Given the description of an element on the screen output the (x, y) to click on. 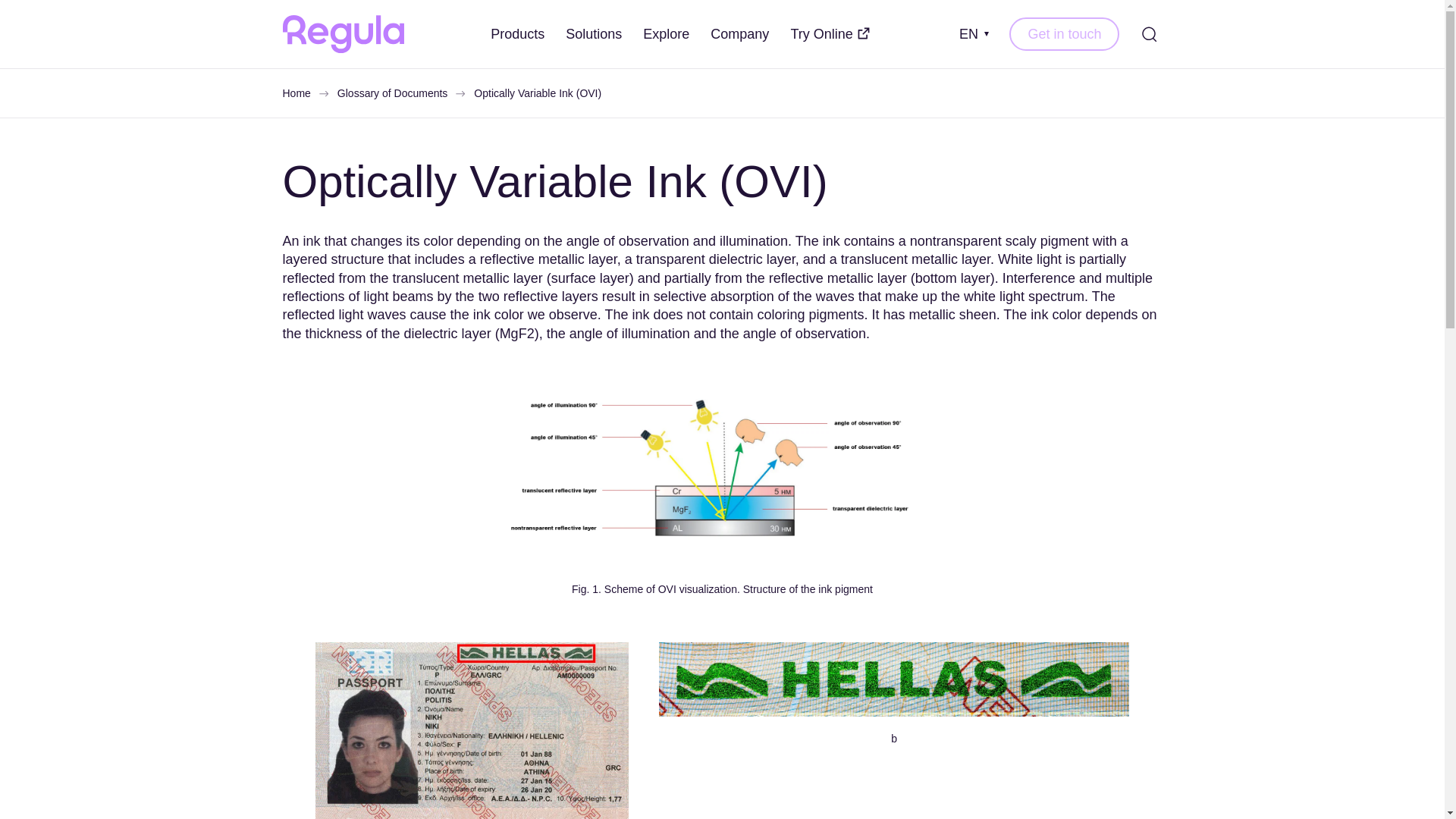
Home (296, 92)
Try Online (829, 34)
Glossary of Documents (392, 92)
Get in touch (1064, 33)
